Given the description of an element on the screen output the (x, y) to click on. 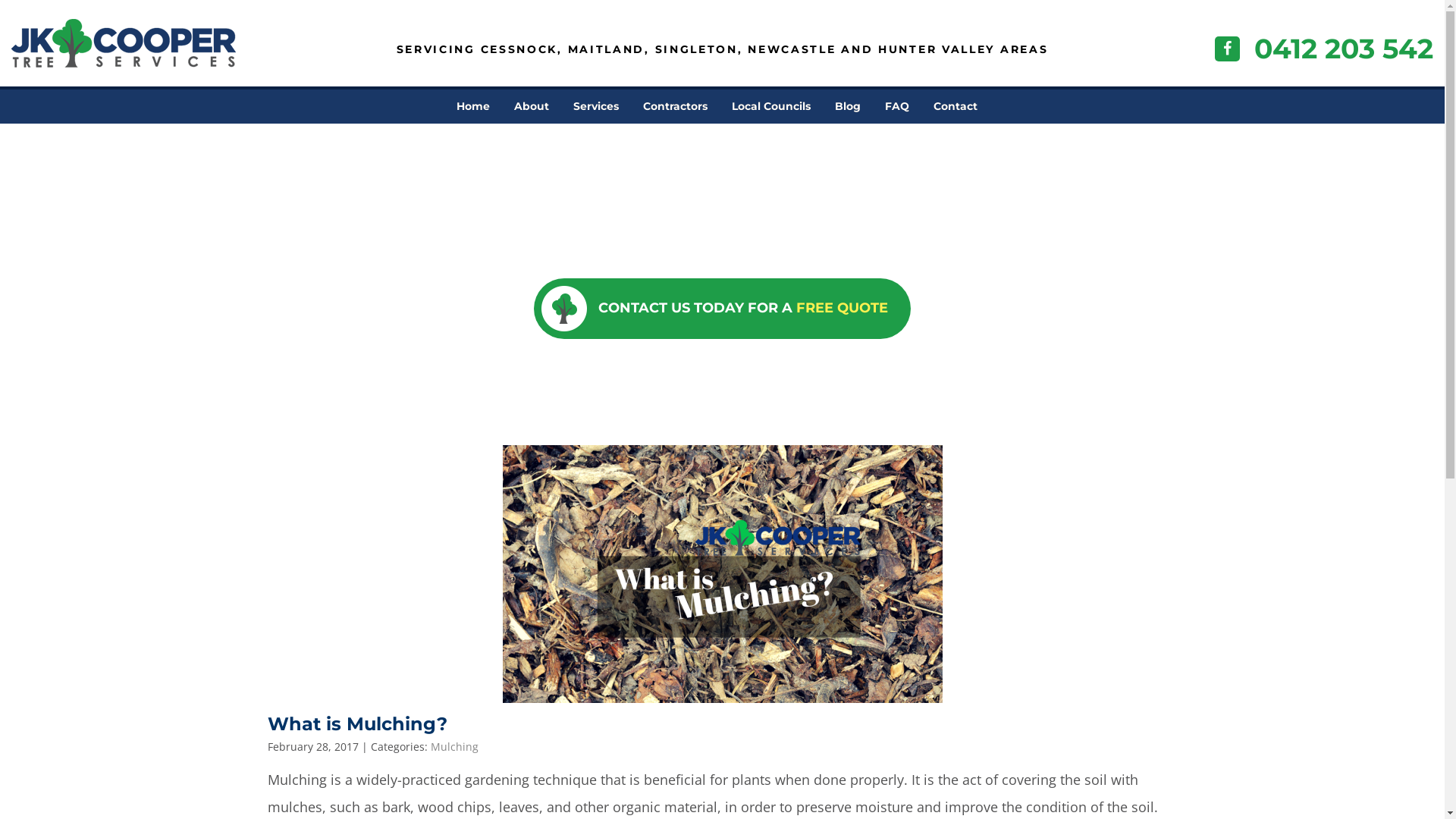
What is Mulching? Element type: hover (721, 573)
FAQ Element type: text (896, 106)
Blog Element type: text (847, 106)
CONTACT US TODAY FOR A FREE QUOTE Element type: text (721, 308)
Contractors Element type: text (675, 106)
What is Mulching? Element type: hover (721, 573)
Home Element type: text (472, 106)
About Element type: text (531, 106)
Mulching Element type: text (454, 746)
What is Mulching? Element type: text (356, 723)
Services Element type: text (595, 106)
Local Councils Element type: text (771, 106)
Contact Element type: text (955, 106)
0412 203 542 Element type: text (1343, 48)
